Given the description of an element on the screen output the (x, y) to click on. 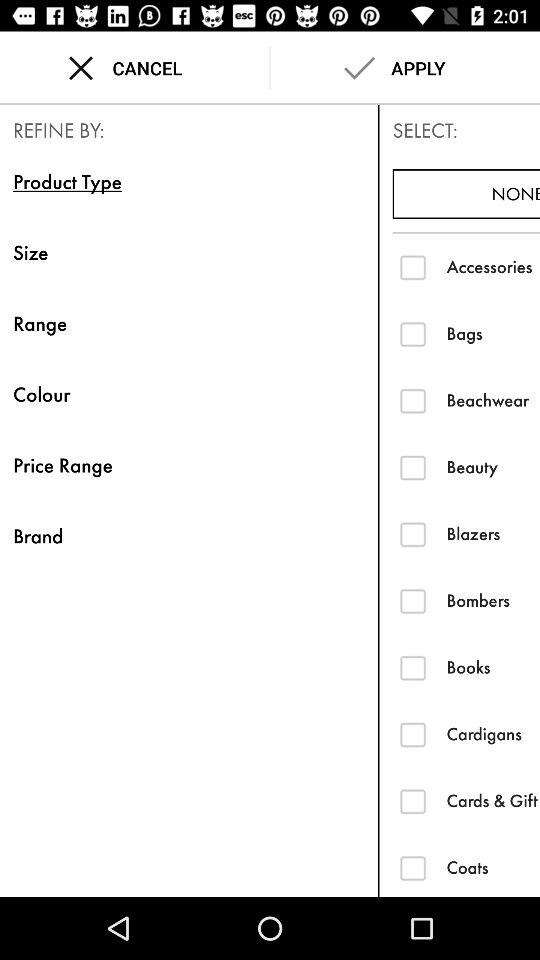
tap the item below cards & gift wrap icon (493, 867)
